Given the description of an element on the screen output the (x, y) to click on. 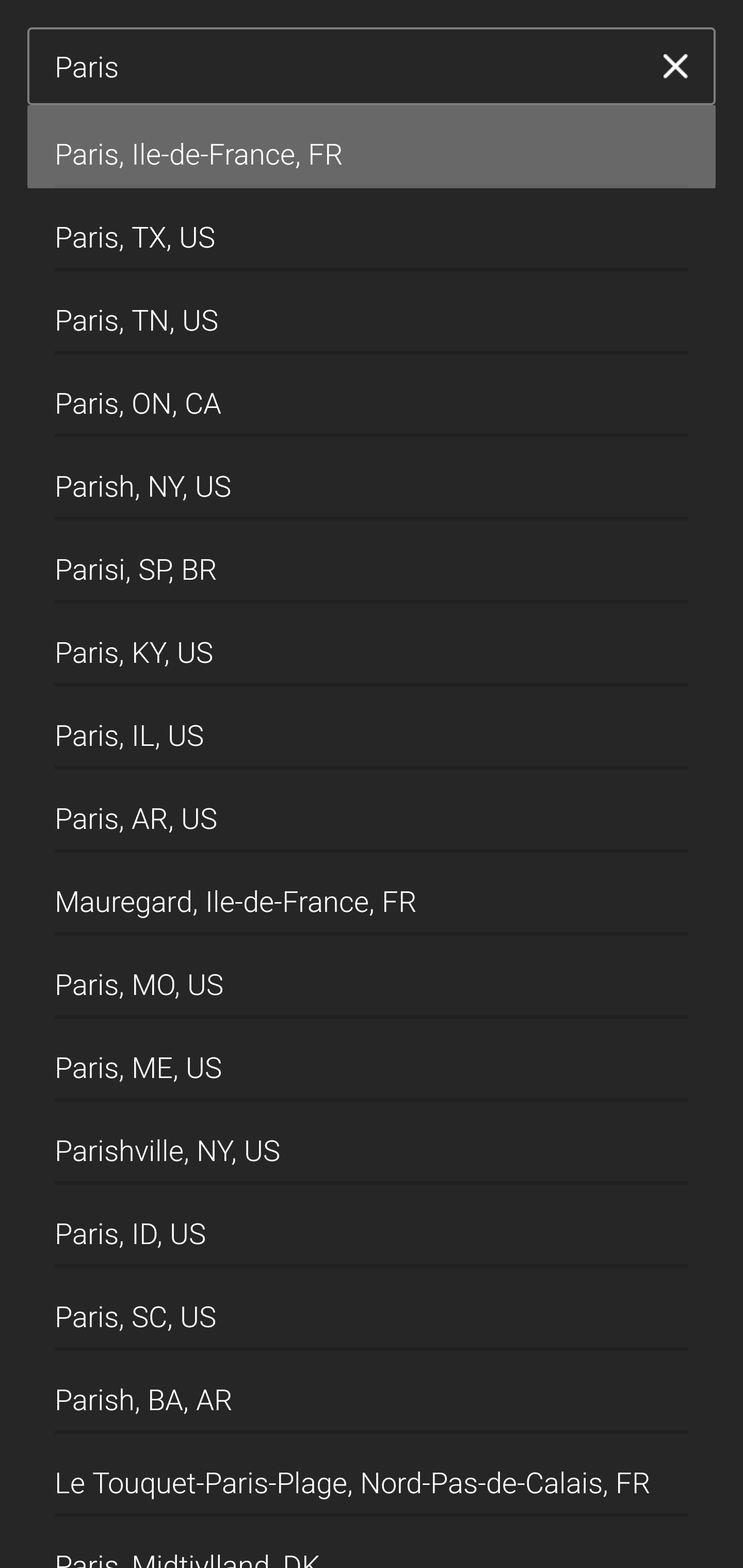
Paris (345, 66)
Paris, Ile-de-France, FR (371, 146)
Paris, TX, US (371, 229)
Paris, TN, US (371, 312)
Paris, ON, CA (371, 395)
Parish, NY, US (371, 478)
Parisi, SP, BR (371, 561)
Paris, KY, US (371, 644)
Paris, IL, US (371, 727)
Paris, AR, US (371, 810)
Mauregard, Ile-de-France, FR (371, 894)
Paris, MO, US (371, 977)
Paris, ME, US (371, 1060)
Parishville, NY, US (371, 1143)
Paris, ID, US (371, 1226)
Paris, SC, US (371, 1309)
Parish, BA, AR (371, 1392)
Le Touquet-Paris-Plage, Nord-Pas-de-Calais, FR (371, 1474)
Paris, Midtjylland, DK (371, 1542)
